Given the description of an element on the screen output the (x, y) to click on. 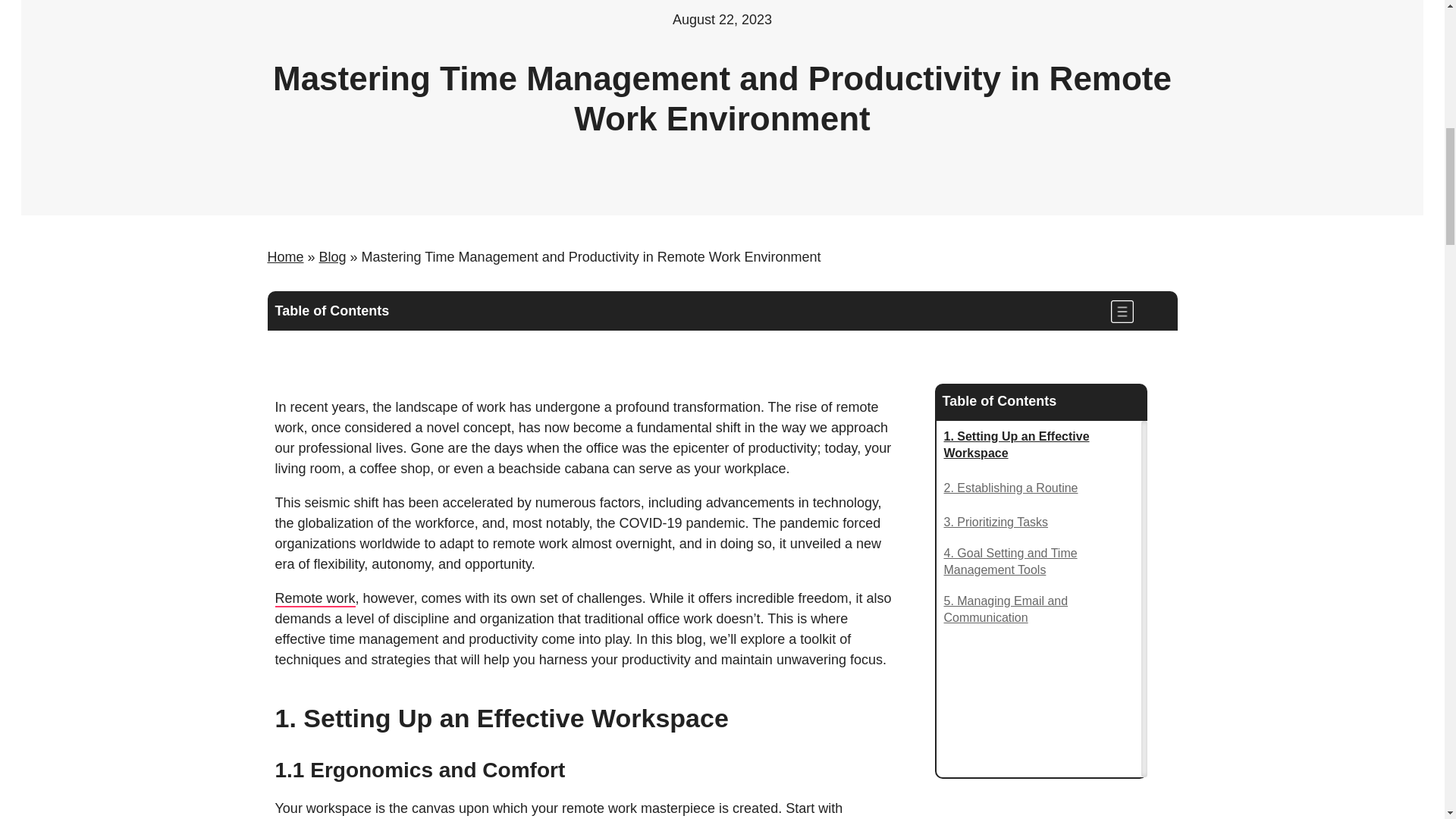
Blog (332, 256)
3. Prioritizing Tasks (995, 522)
2. Establishing a Routine (1010, 487)
1. Setting Up an Effective Workspace (1037, 445)
Remote work (315, 598)
Home (284, 256)
